Given the description of an element on the screen output the (x, y) to click on. 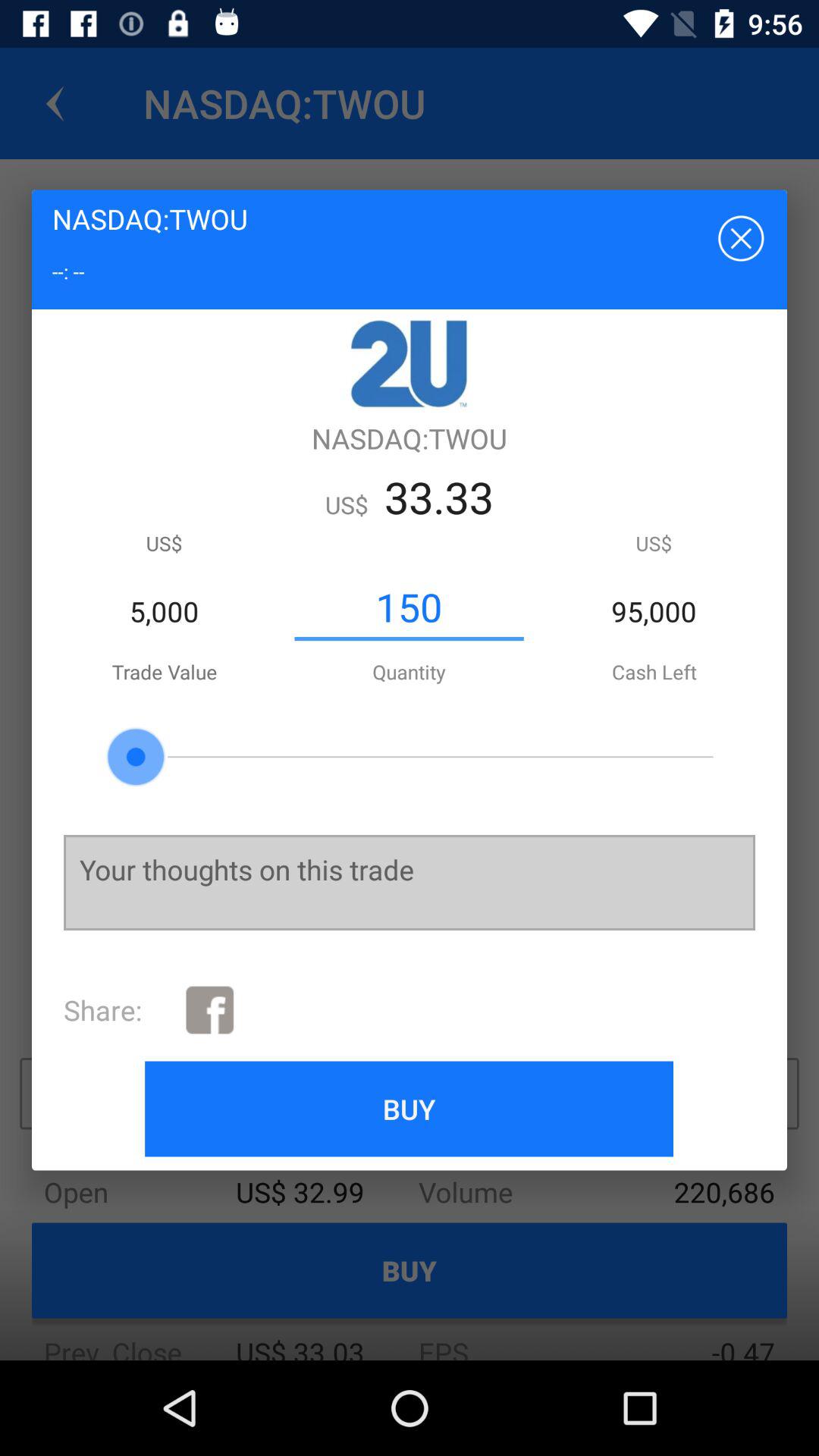
turn on icon to the left of the us$ icon (408, 607)
